Given the description of an element on the screen output the (x, y) to click on. 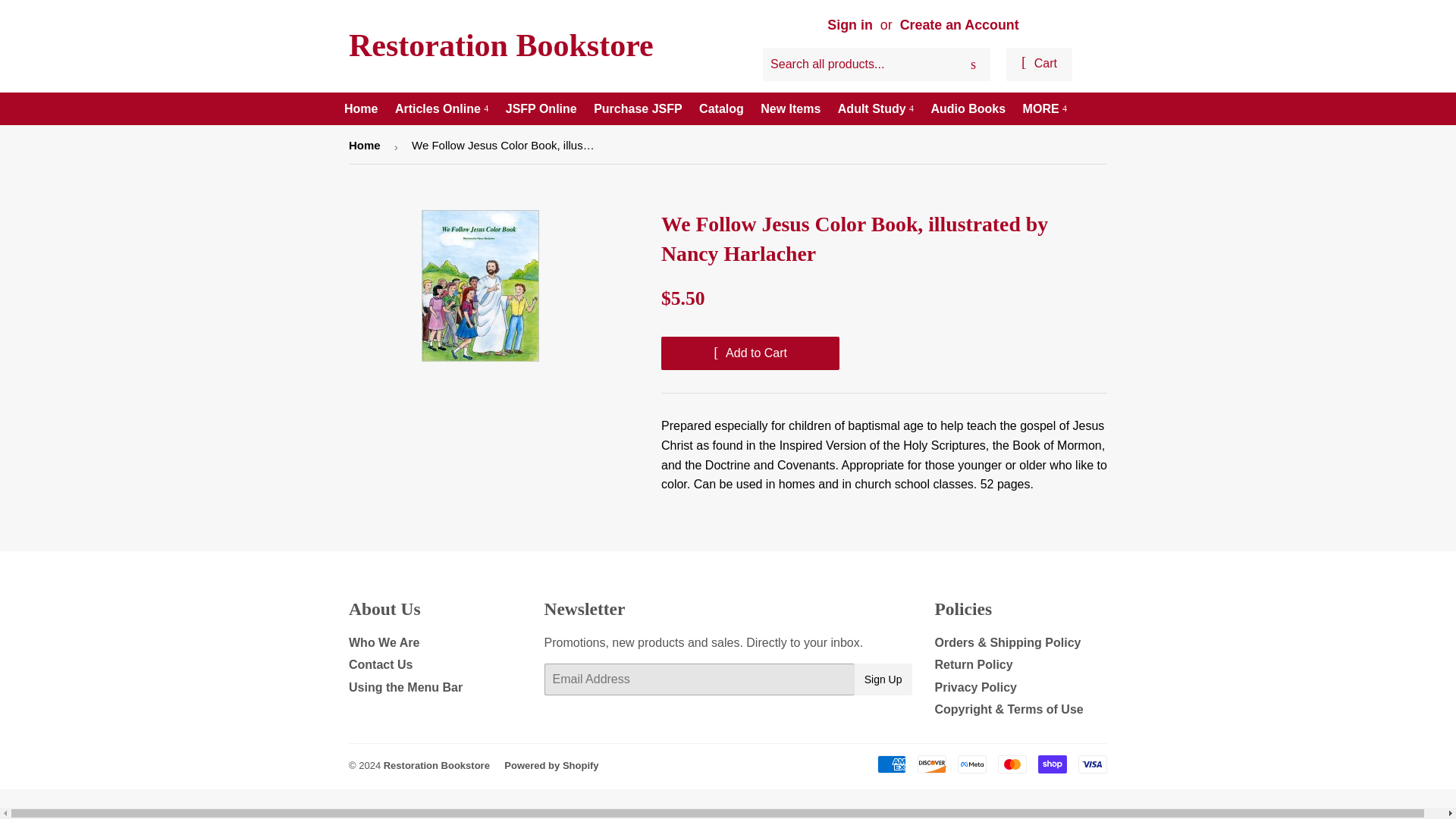
Meta Pay (972, 764)
Sign in (849, 24)
Restoration Bookstore (538, 45)
Mastercard (1011, 764)
Search (973, 65)
Visa (1092, 764)
American Express (891, 764)
Create an Account (959, 24)
Back to the frontpage (367, 145)
Discover (931, 764)
Cart (1038, 64)
Shop Pay (1052, 764)
